Given the description of an element on the screen output the (x, y) to click on. 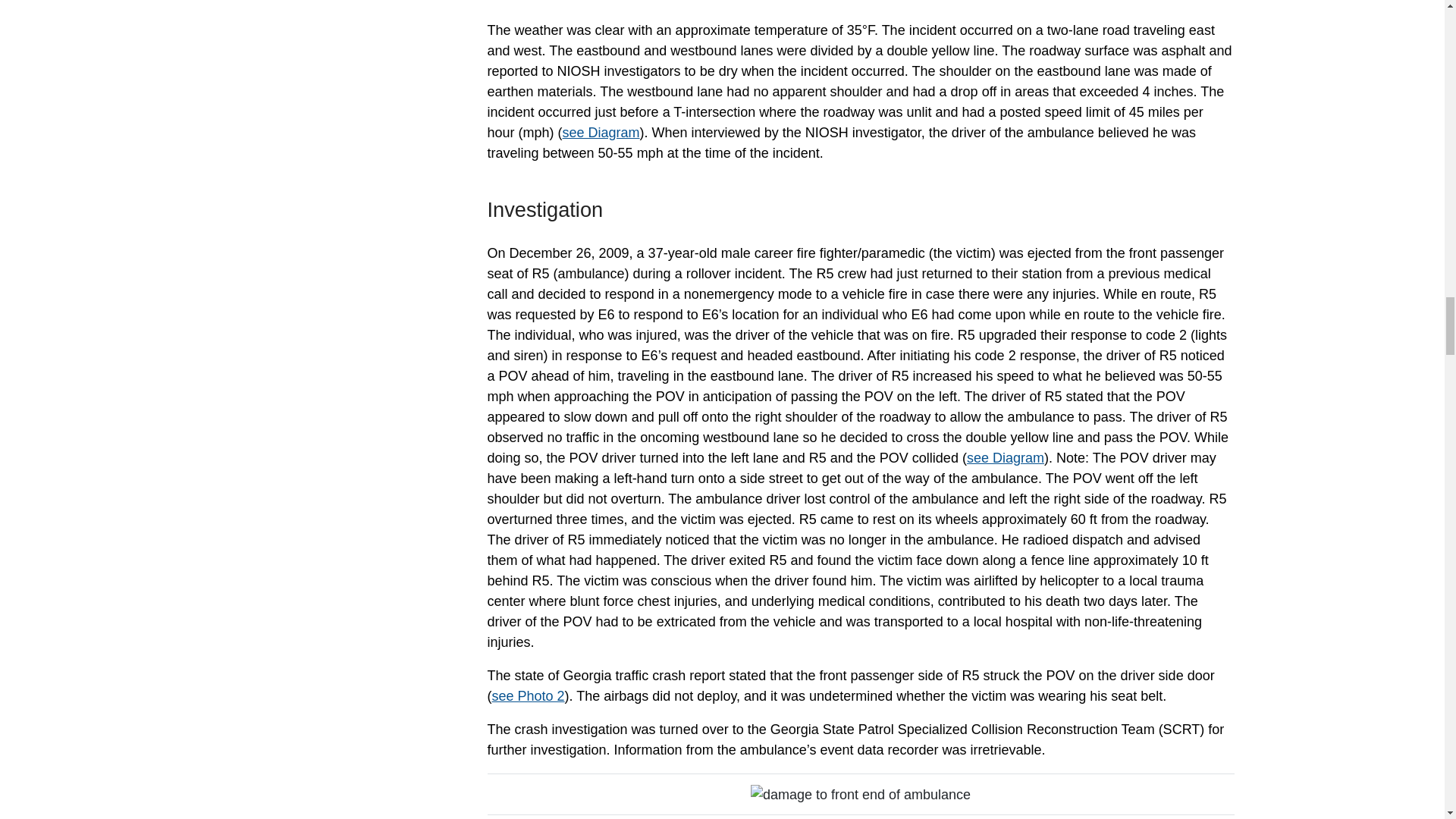
see Diagram (1004, 458)
see Photo 2 (528, 695)
see Diagram (601, 132)
